Given the description of an element on the screen output the (x, y) to click on. 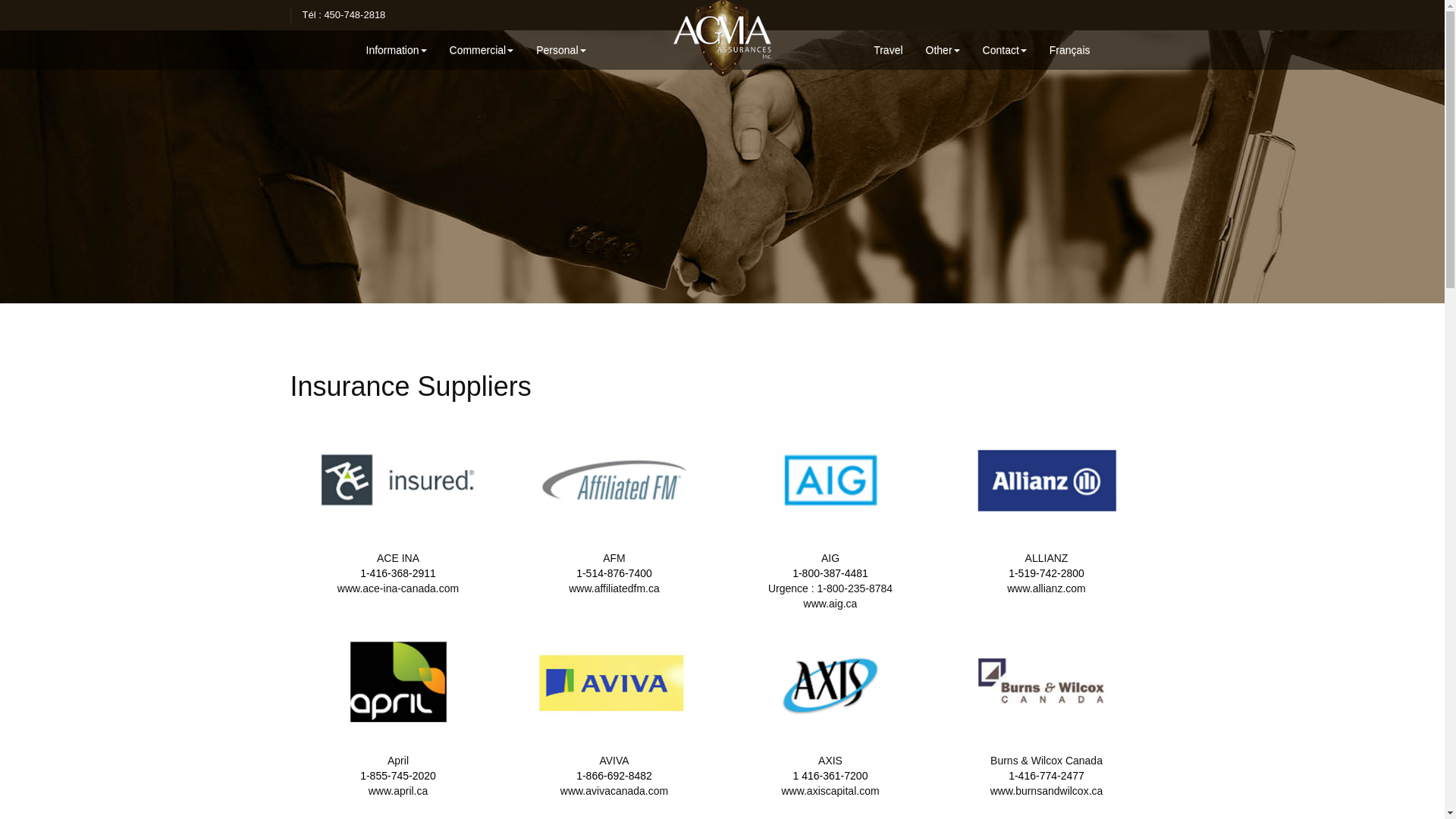
1-416-368-2911 Element type: text (398, 573)
1-866-692-8482 Element type: text (614, 775)
Commercial Element type: text (481, 50)
Other Element type: text (942, 50)
1-514-876-7400 Element type: text (614, 573)
Personal Element type: text (560, 50)
Travel Element type: text (887, 50)
1-800-387-4481 Element type: text (830, 573)
1-416-774-2477 Element type: text (1046, 775)
Contact Element type: text (1004, 50)
1 416-361-7200 Element type: text (830, 775)
1-855-745-2020 Element type: text (398, 775)
1-519-742-2800 Element type: text (1046, 573)
Information Element type: text (396, 50)
